Given the description of an element on the screen output the (x, y) to click on. 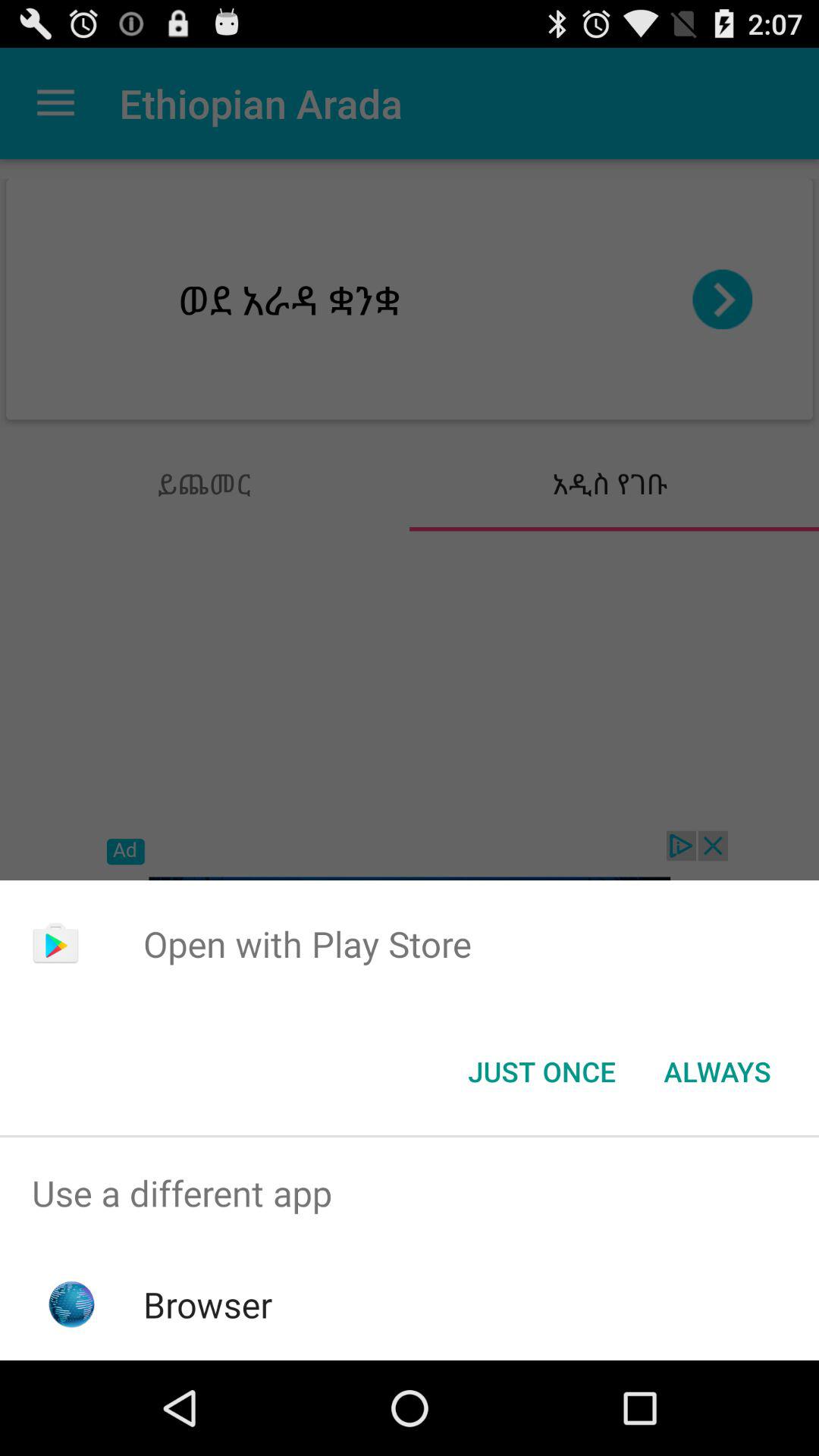
swipe to the browser icon (207, 1304)
